Given the description of an element on the screen output the (x, y) to click on. 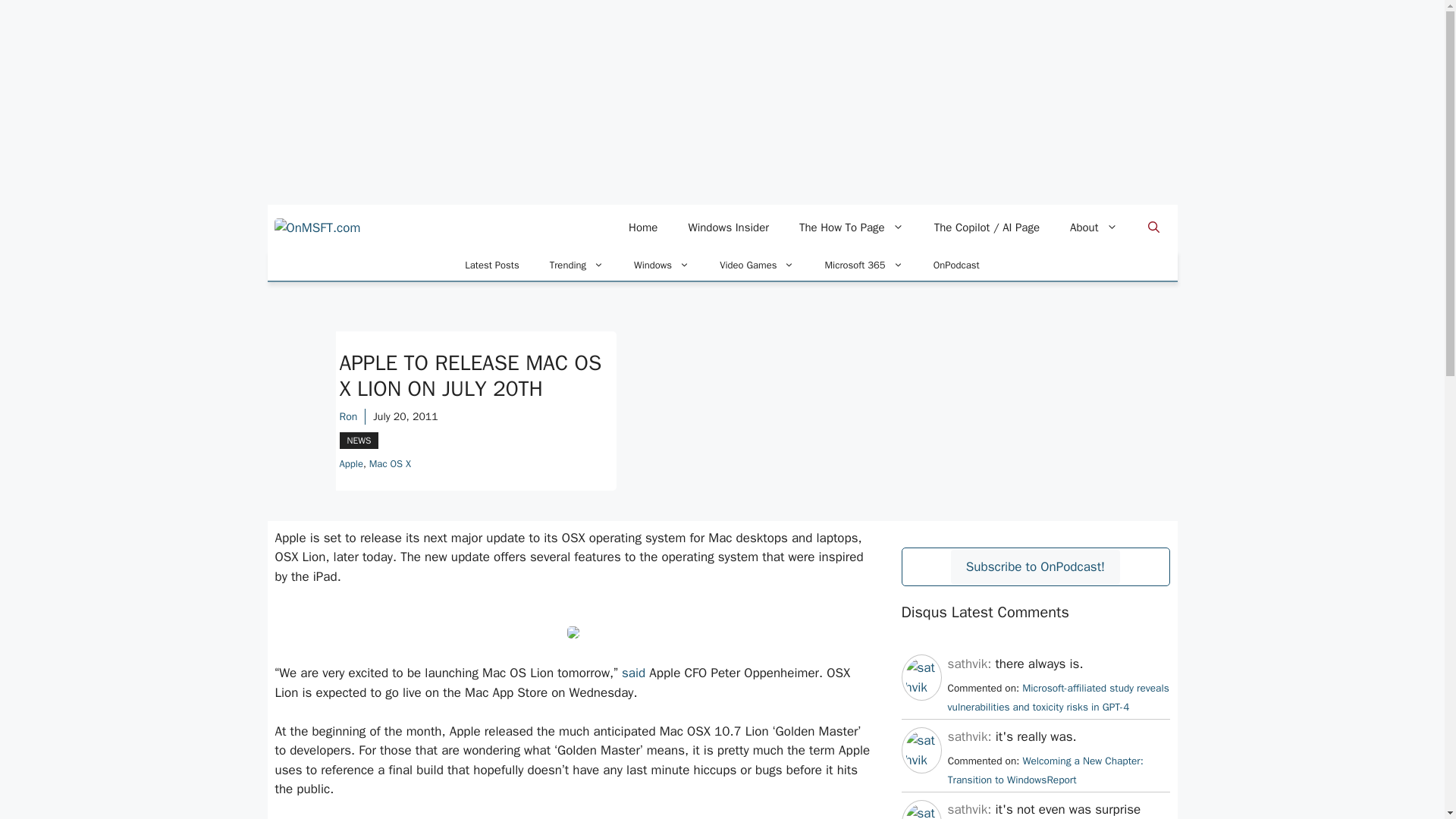
sathvik (920, 760)
August 31, 2024 (1058, 697)
Trending (576, 265)
Windows (661, 265)
About (1093, 227)
Home (642, 227)
Latest Posts (491, 265)
Video Games (756, 265)
The How To Page (851, 227)
July 24, 2024 (1044, 770)
